Given the description of an element on the screen output the (x, y) to click on. 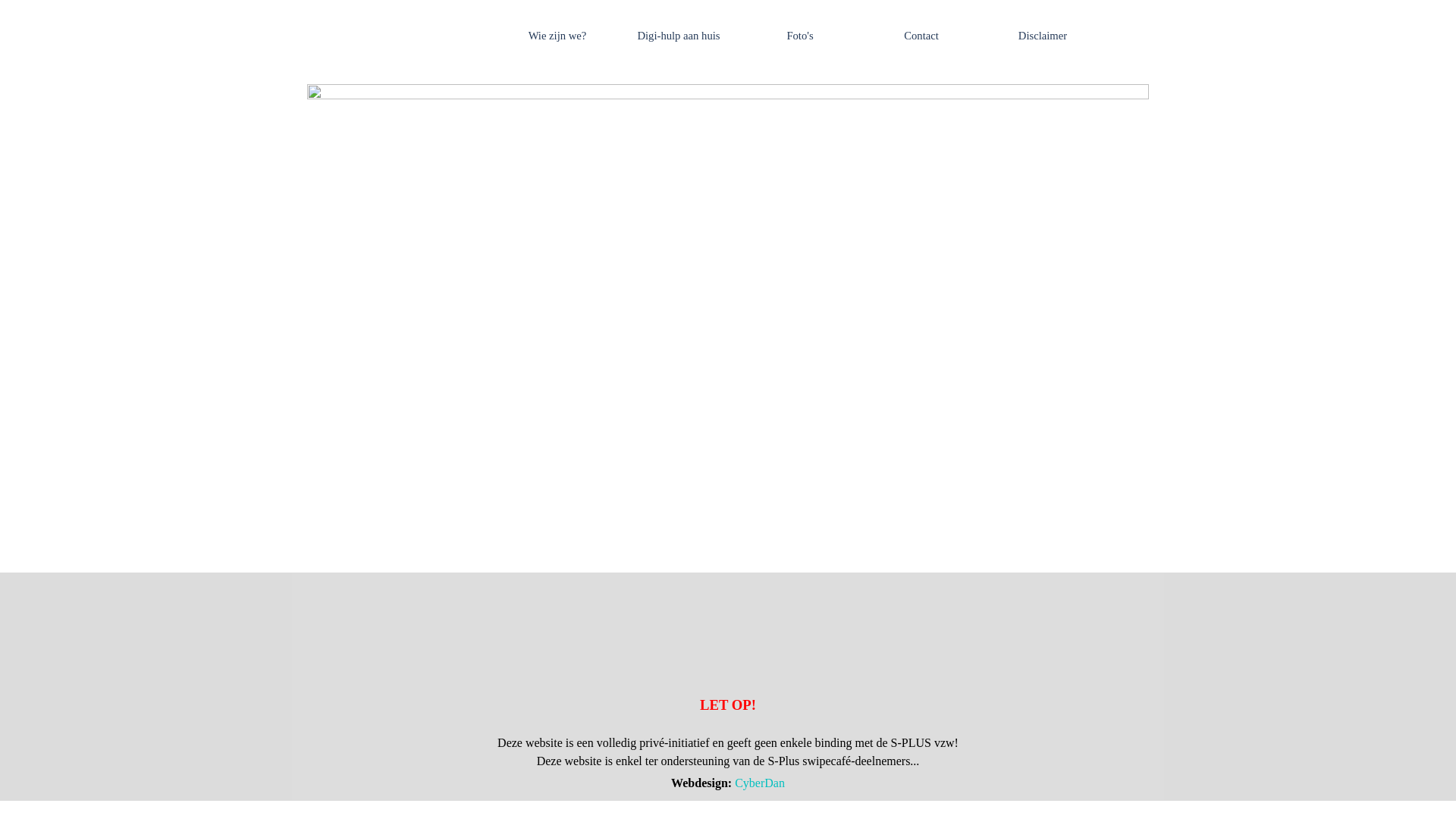
CyberDan Element type: text (759, 782)
Foto's Element type: text (799, 35)
Disclaimer Element type: text (1042, 35)
Contact Element type: text (921, 35)
Wie zijn we? Element type: text (557, 35)
Digi-hulp aan huis Element type: text (678, 35)
